Given the description of an element on the screen output the (x, y) to click on. 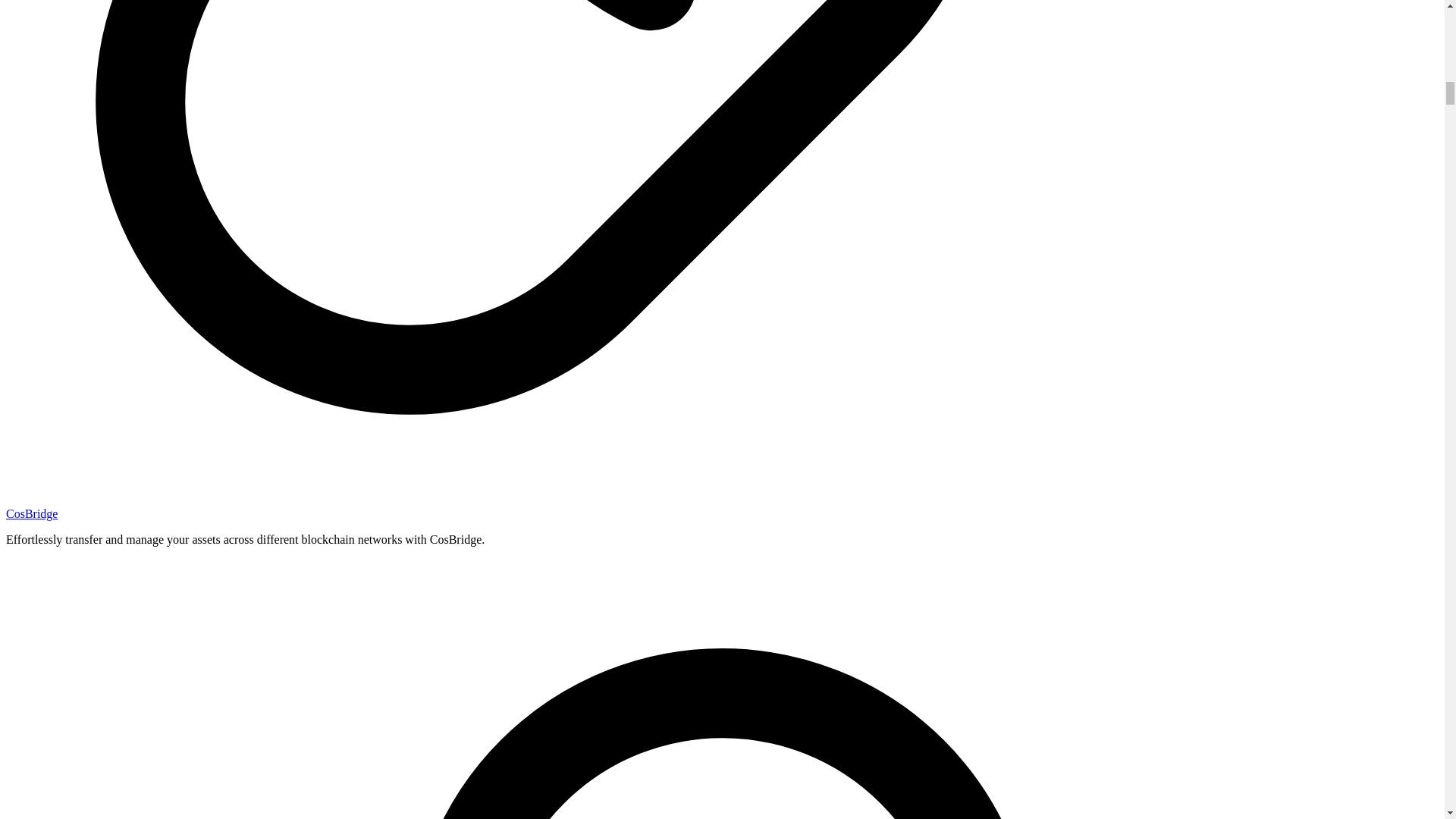
CosBridge (31, 513)
CosBridge (31, 513)
